Given the description of an element on the screen output the (x, y) to click on. 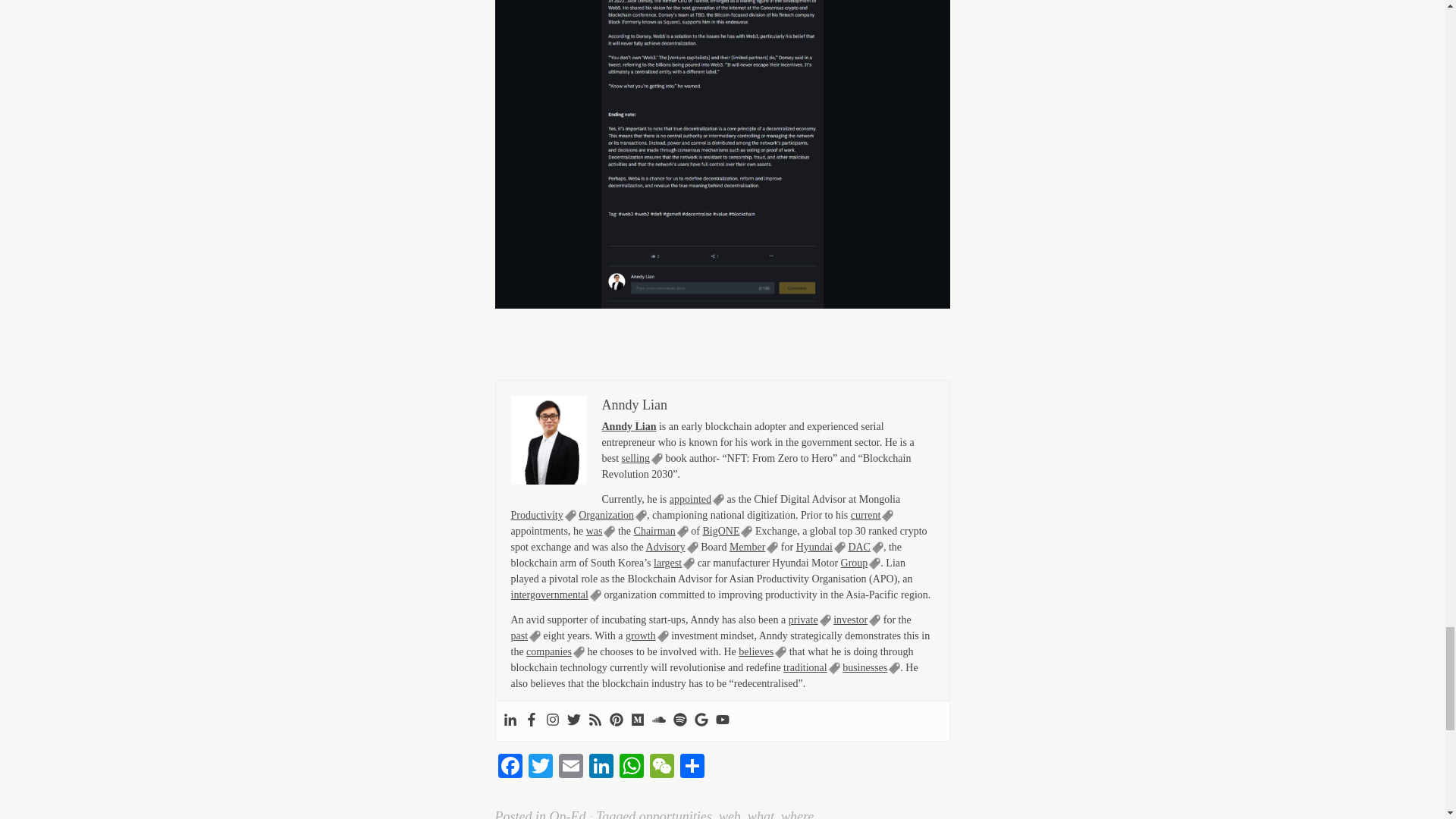
Anndy Lian (634, 405)
current (871, 515)
was (600, 531)
BigONE (726, 531)
Chairman (660, 531)
selling (641, 458)
Advisory (672, 547)
Anndy Lian (629, 426)
Productivity (543, 515)
appointed (696, 499)
